Given the description of an element on the screen output the (x, y) to click on. 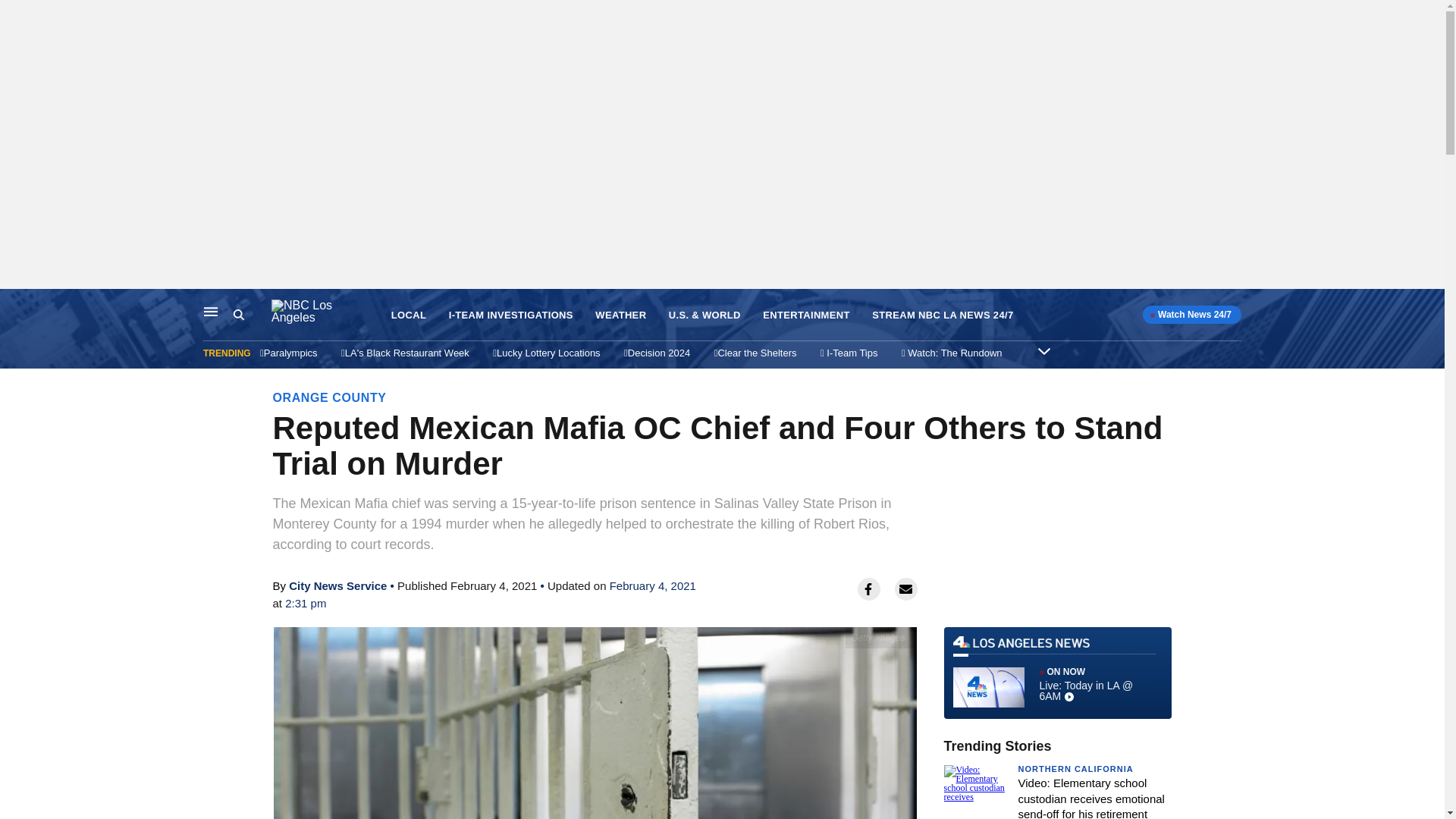
Expand (1043, 350)
ENTERTAINMENT (806, 315)
Skip to content (16, 304)
WEATHER (620, 315)
Main Navigation (210, 311)
LOCAL (408, 315)
City News Service (337, 585)
Search (238, 314)
Search (252, 314)
